Given the description of an element on the screen output the (x, y) to click on. 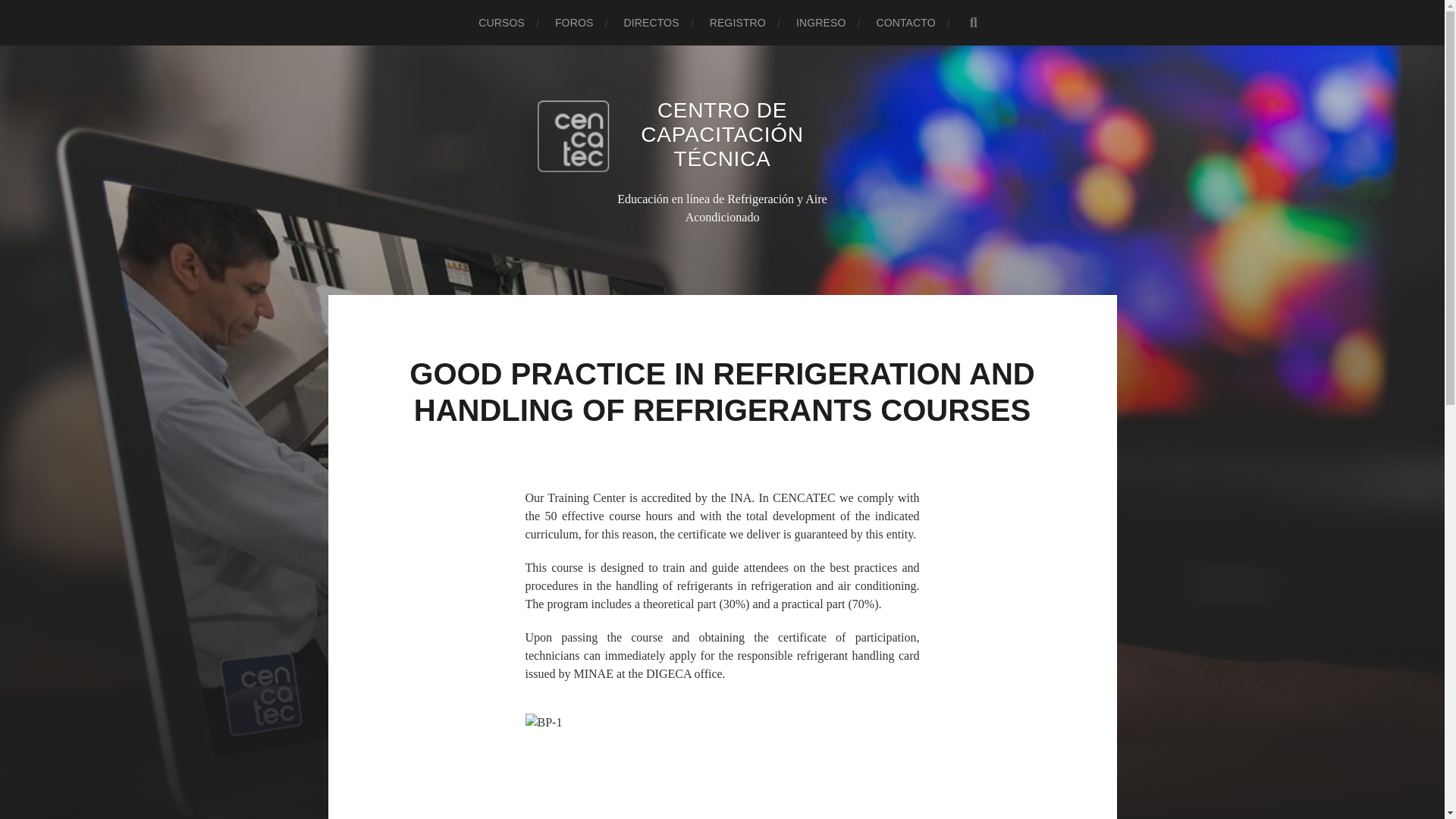
REGISTRO (737, 22)
CURSOS (501, 22)
INGRESO (820, 22)
CONTACTO (905, 22)
DIRECTOS (650, 22)
